Given the description of an element on the screen output the (x, y) to click on. 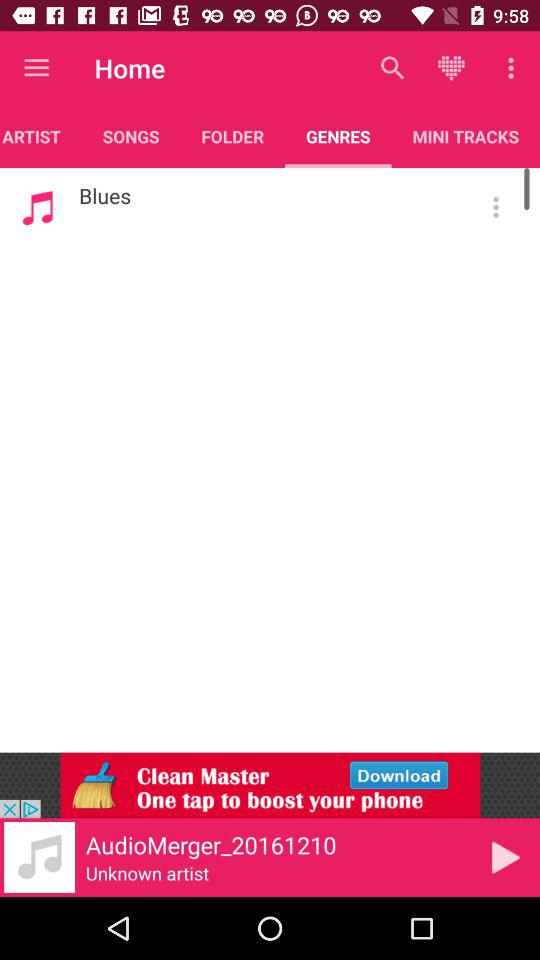
advertisement to install clean master app (270, 785)
